Given the description of an element on the screen output the (x, y) to click on. 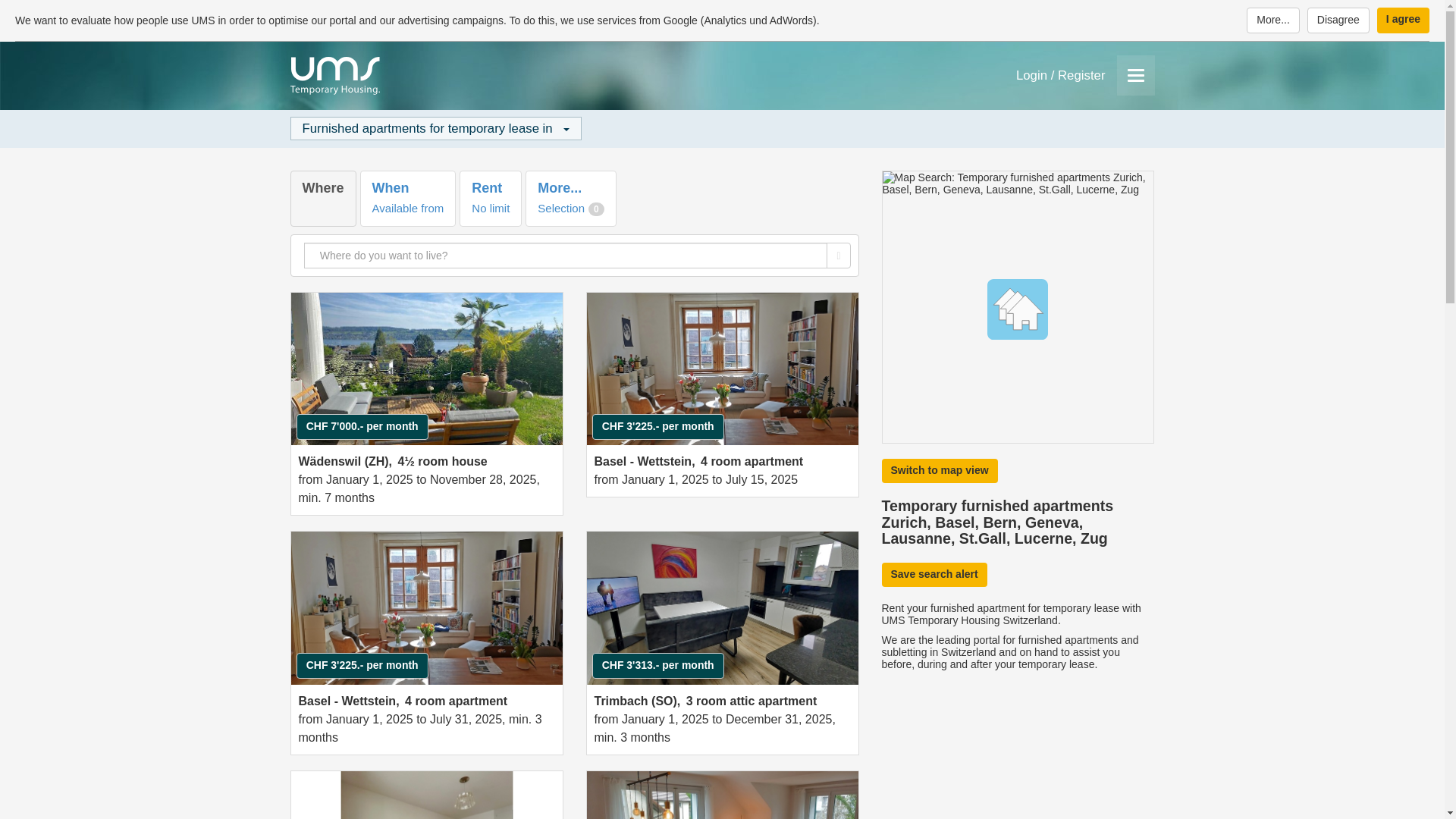
More... (570, 198)
Disagree (1273, 20)
Disagree (1338, 20)
I agree (490, 198)
More... (1338, 20)
Furnished apartments for temporary lease in (1403, 20)
I agree (1273, 20)
UMS Temporary Housing (322, 198)
